Given the description of an element on the screen output the (x, y) to click on. 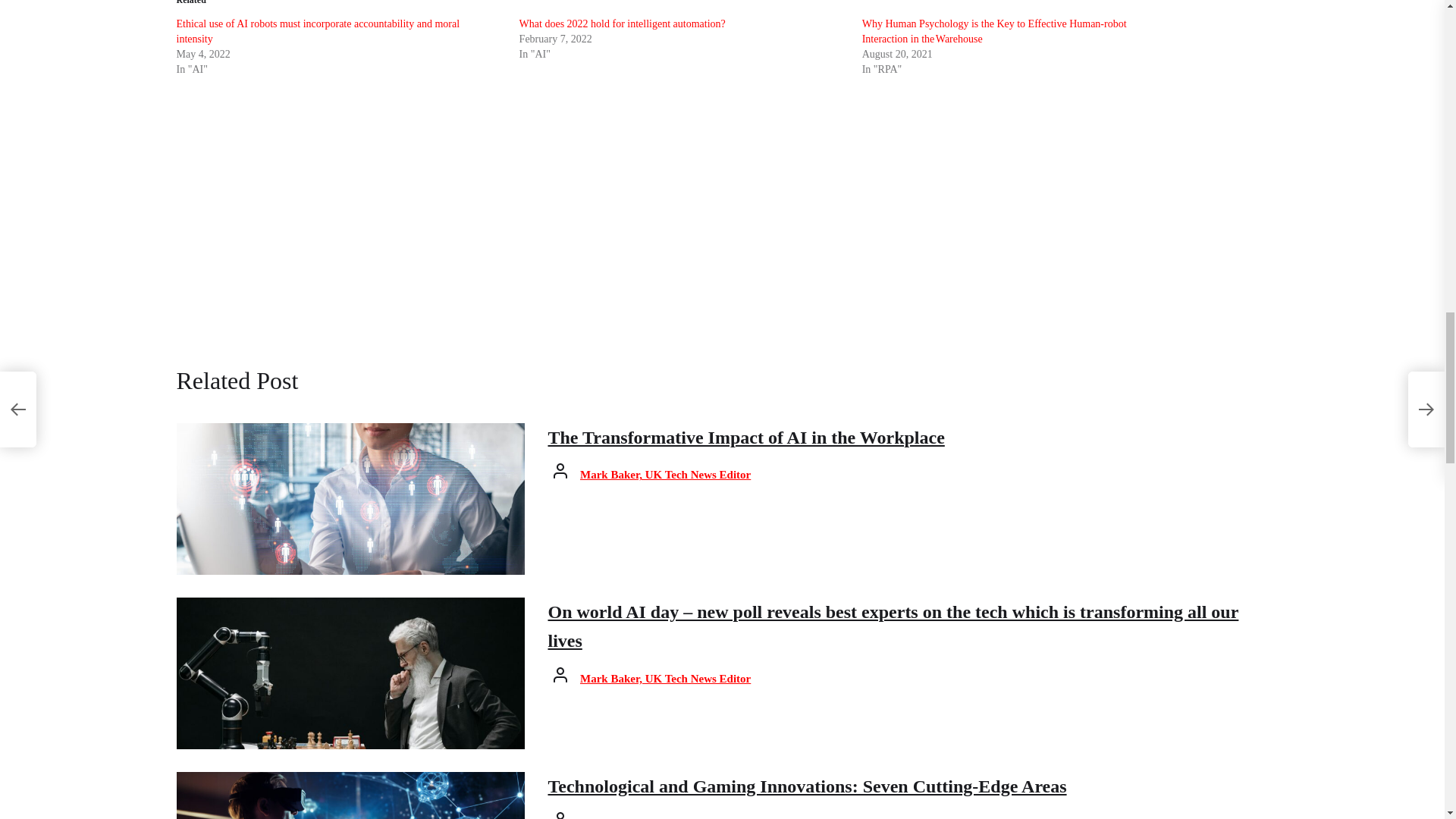
What does 2022 hold for intelligent automation? (622, 23)
